Given the description of an element on the screen output the (x, y) to click on. 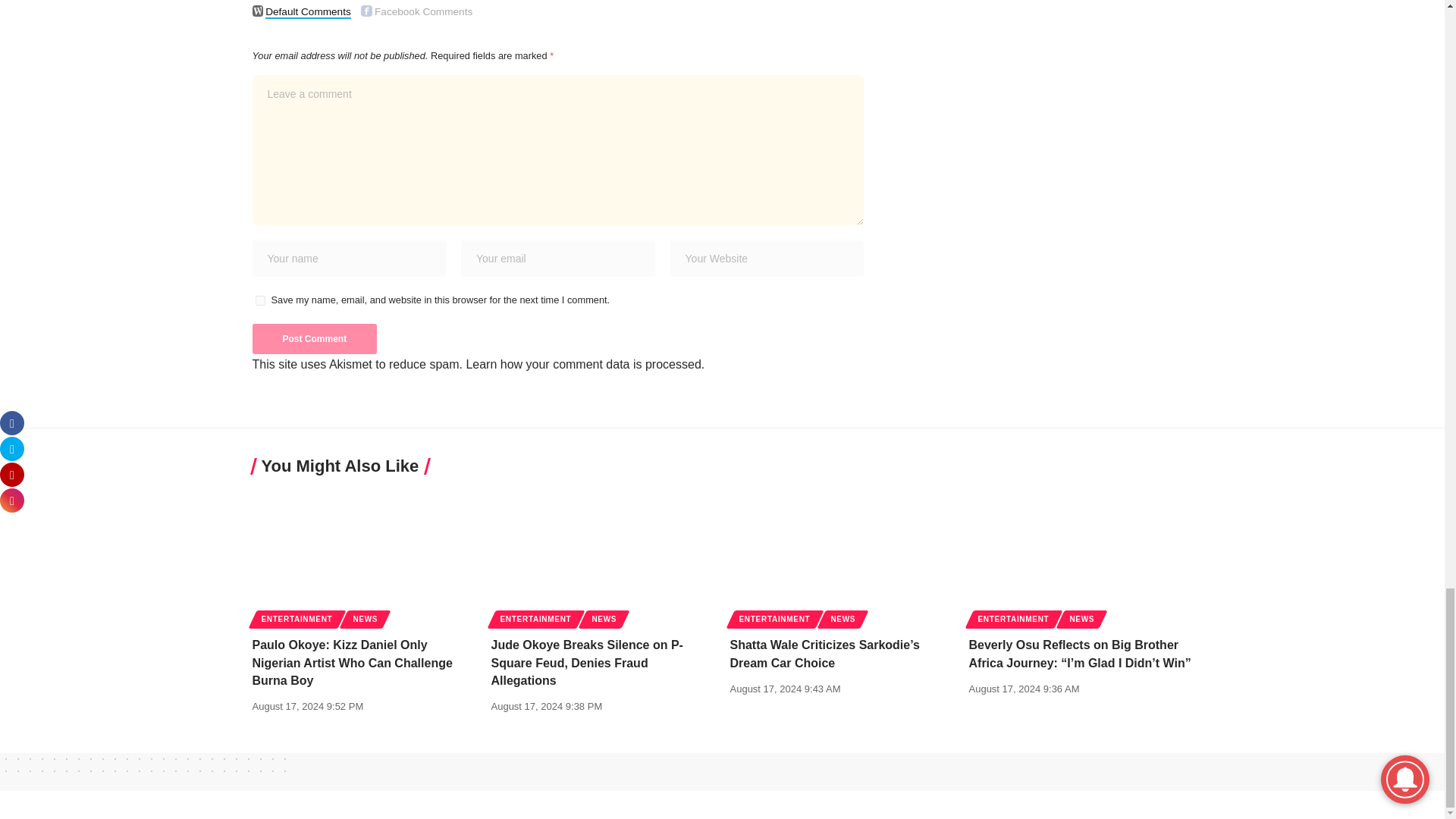
Facebook Comments (366, 10)
Post Comment (314, 338)
yes (259, 300)
Default Comments (257, 10)
